Given the description of an element on the screen output the (x, y) to click on. 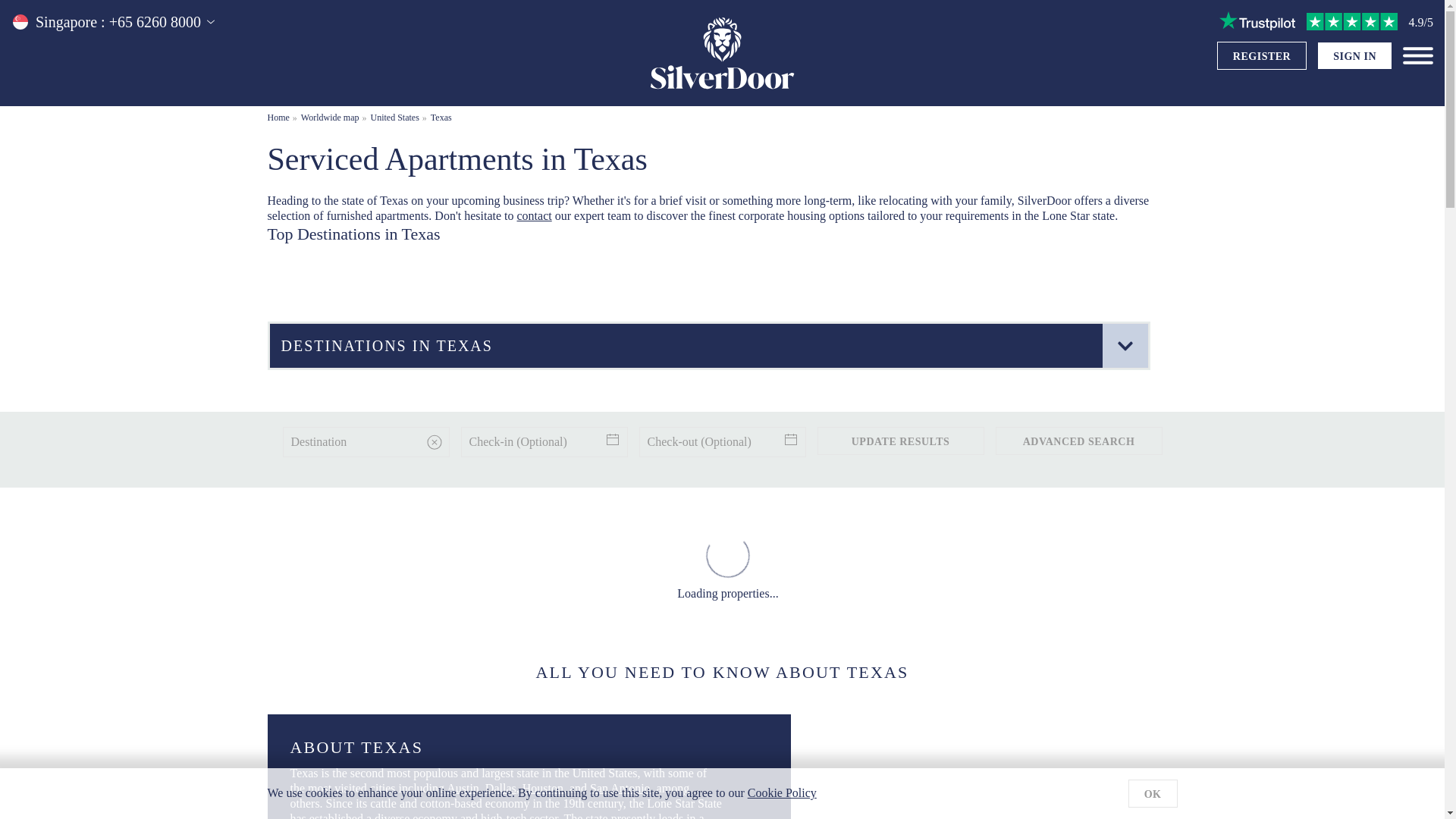
DESTINATIONS IN TEXAS (707, 345)
Update Results (900, 440)
SIGN IN (1354, 55)
ADVANCED SEARCH (1077, 440)
Worldwide map (330, 117)
Update Results (900, 440)
Texas (440, 117)
contact (533, 215)
Home (277, 117)
United States (395, 117)
